Given the description of an element on the screen output the (x, y) to click on. 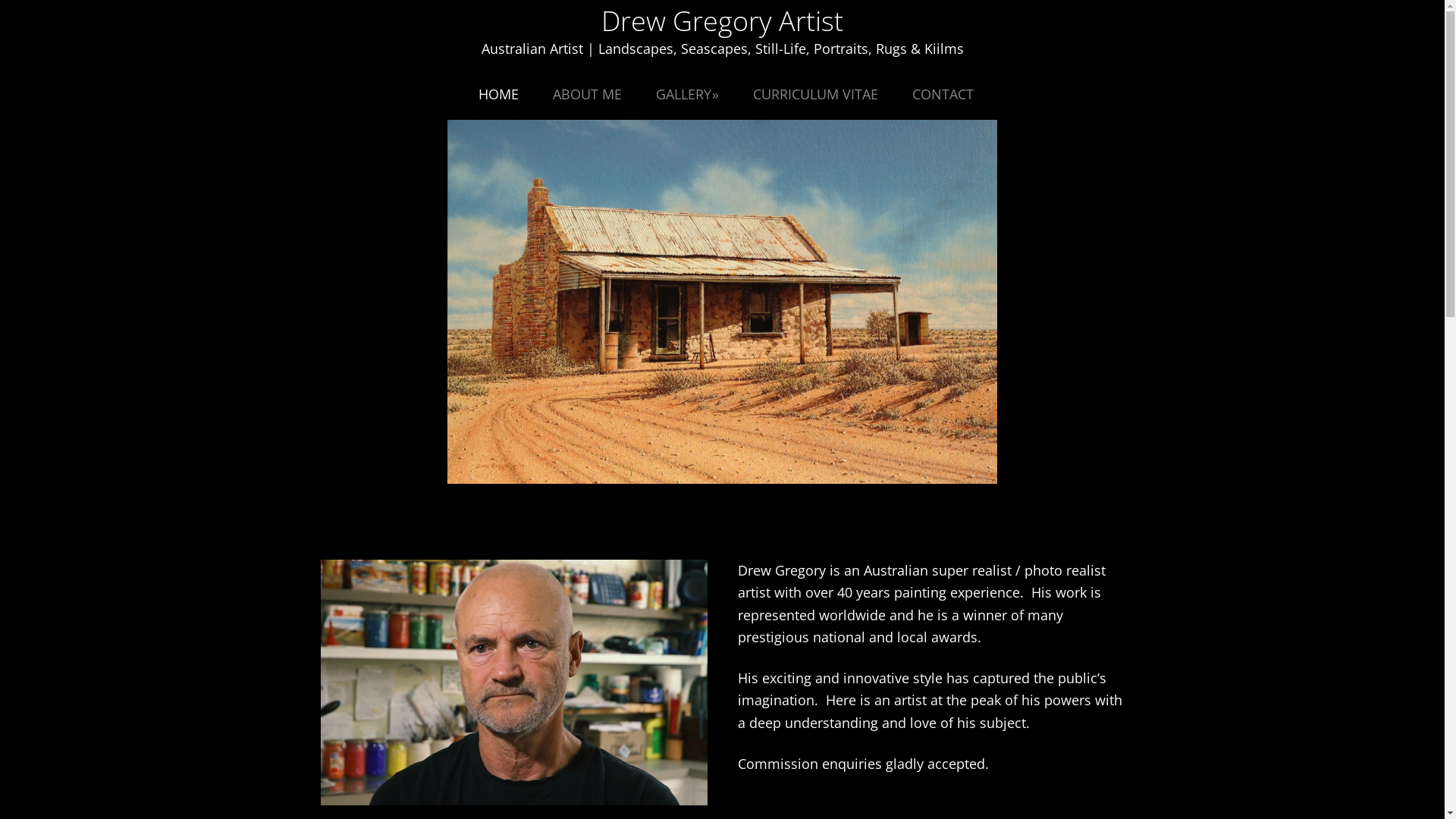
ABOUT ME Element type: text (587, 93)
Drew Gregory Artist Element type: text (722, 20)
HOME Element type: text (498, 93)
CONTACT Element type: text (942, 93)
GALLERY Element type: text (687, 93)
DrewGregory Element type: hover (513, 682)
CURRICULUM VITAE Element type: text (815, 93)
